Given the description of an element on the screen output the (x, y) to click on. 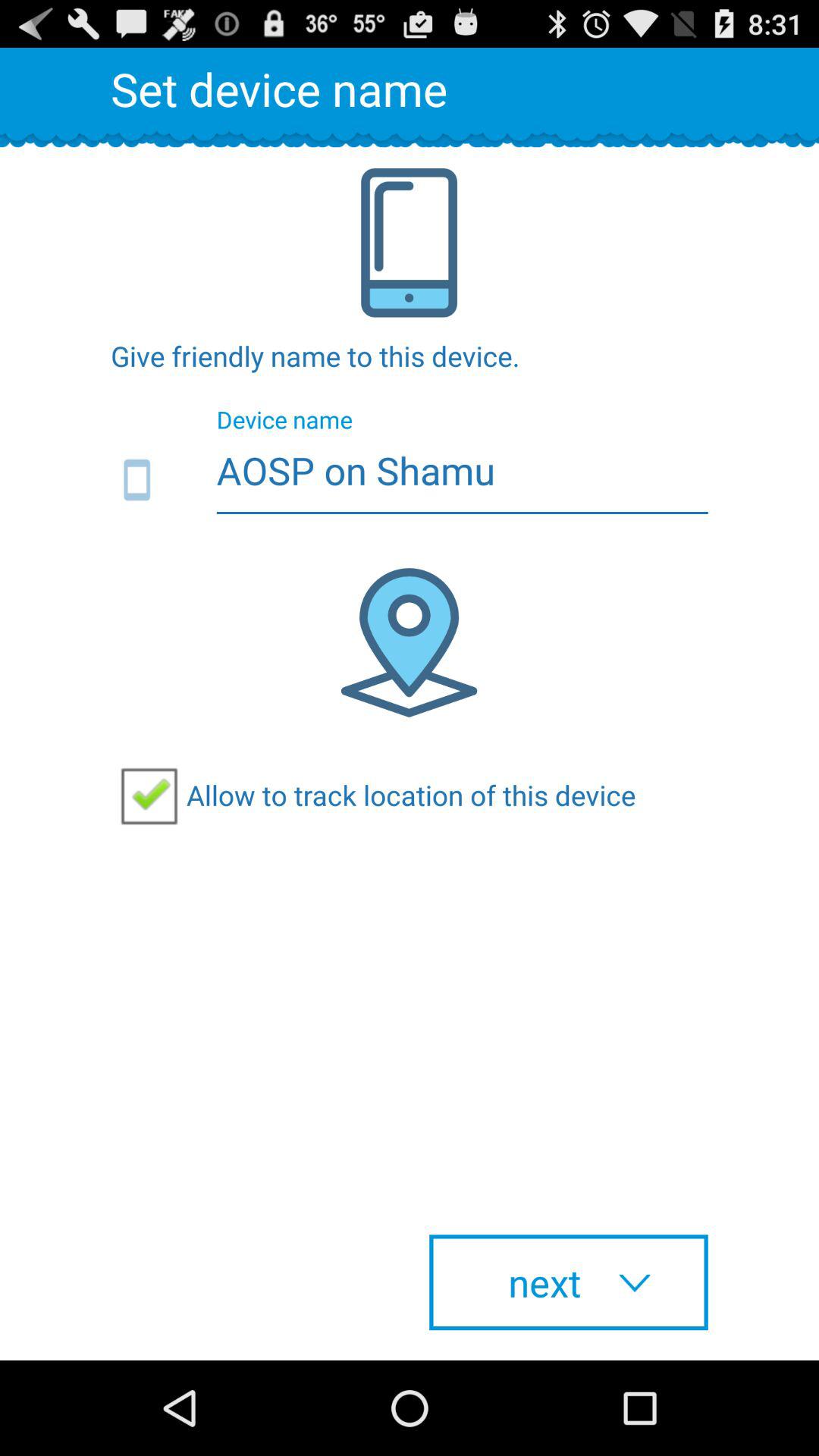
jump to the allow to track item (372, 794)
